Given the description of an element on the screen output the (x, y) to click on. 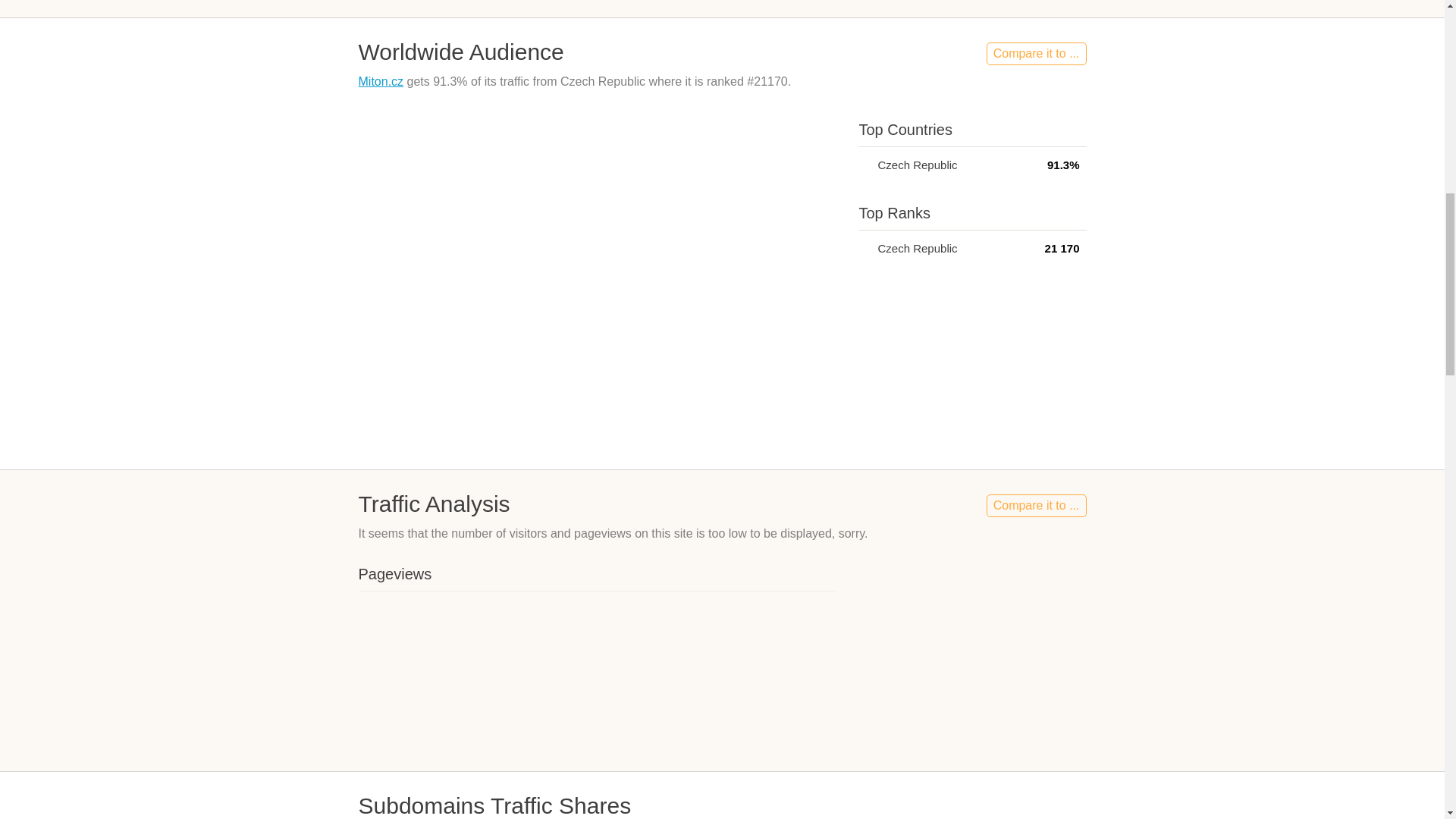
Compare it to ... (1036, 53)
Compare it to ... (1036, 505)
Czech Republic (864, 248)
Miton.cz (380, 81)
Czech Republic (864, 164)
